Given the description of an element on the screen output the (x, y) to click on. 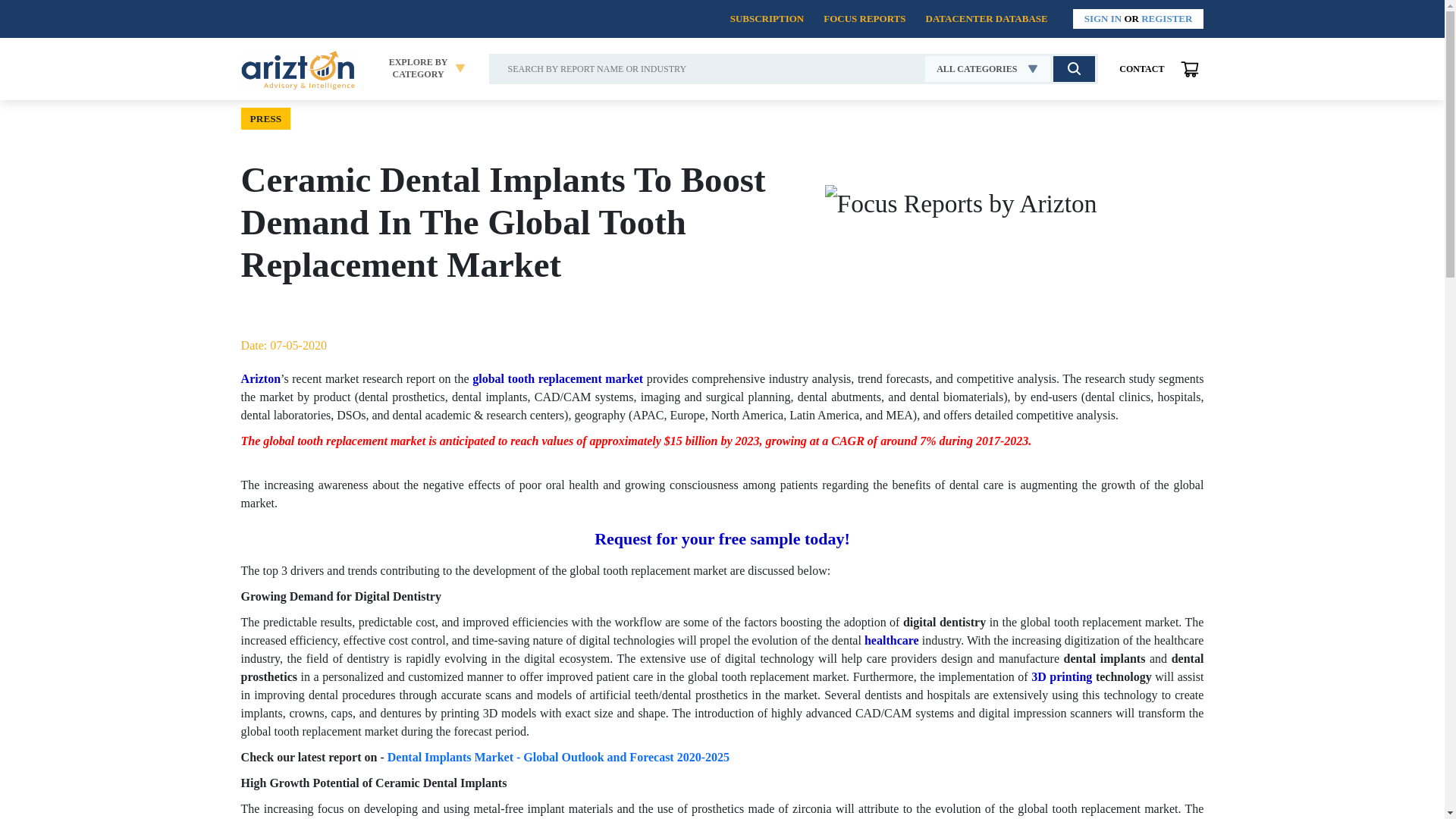
global tooth replacement market (557, 378)
SUBSCRIPTION (767, 18)
CONTACT (1141, 69)
Request for your free sample today! (722, 538)
REGISTER (1166, 18)
Arizton (261, 378)
healthcare (891, 640)
ALL CATEGORIES (986, 68)
3D printing (1061, 676)
